Given the description of an element on the screen output the (x, y) to click on. 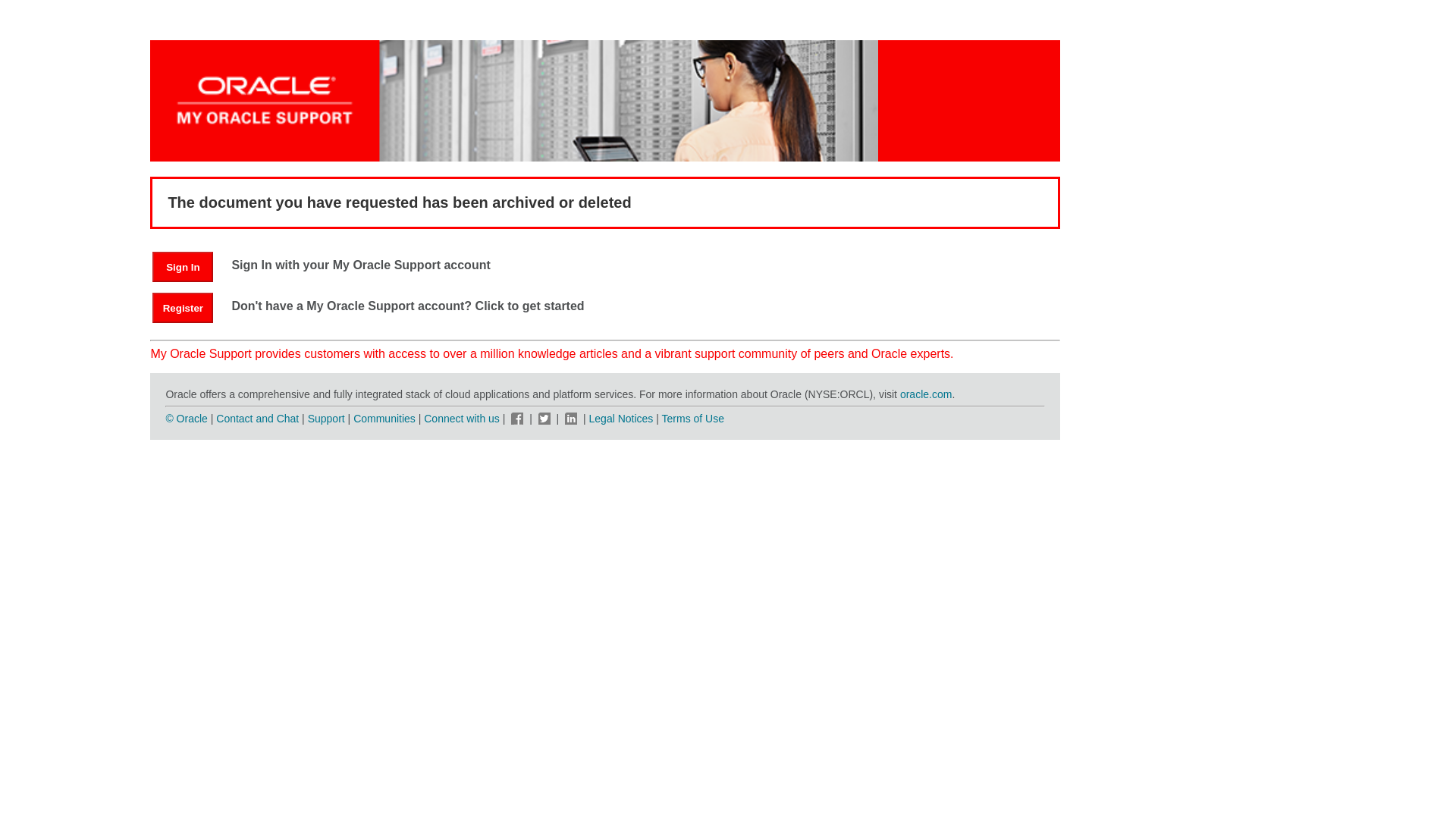
Sign In (190, 266)
Terms of Use (692, 418)
Communities (383, 418)
Legal Notices (621, 418)
Contact and Chat (256, 418)
oracle.com (925, 394)
oracle.com (925, 394)
Support (326, 418)
Register (182, 307)
Register (190, 307)
Sign In (182, 266)
Connect with us (462, 418)
